Given the description of an element on the screen output the (x, y) to click on. 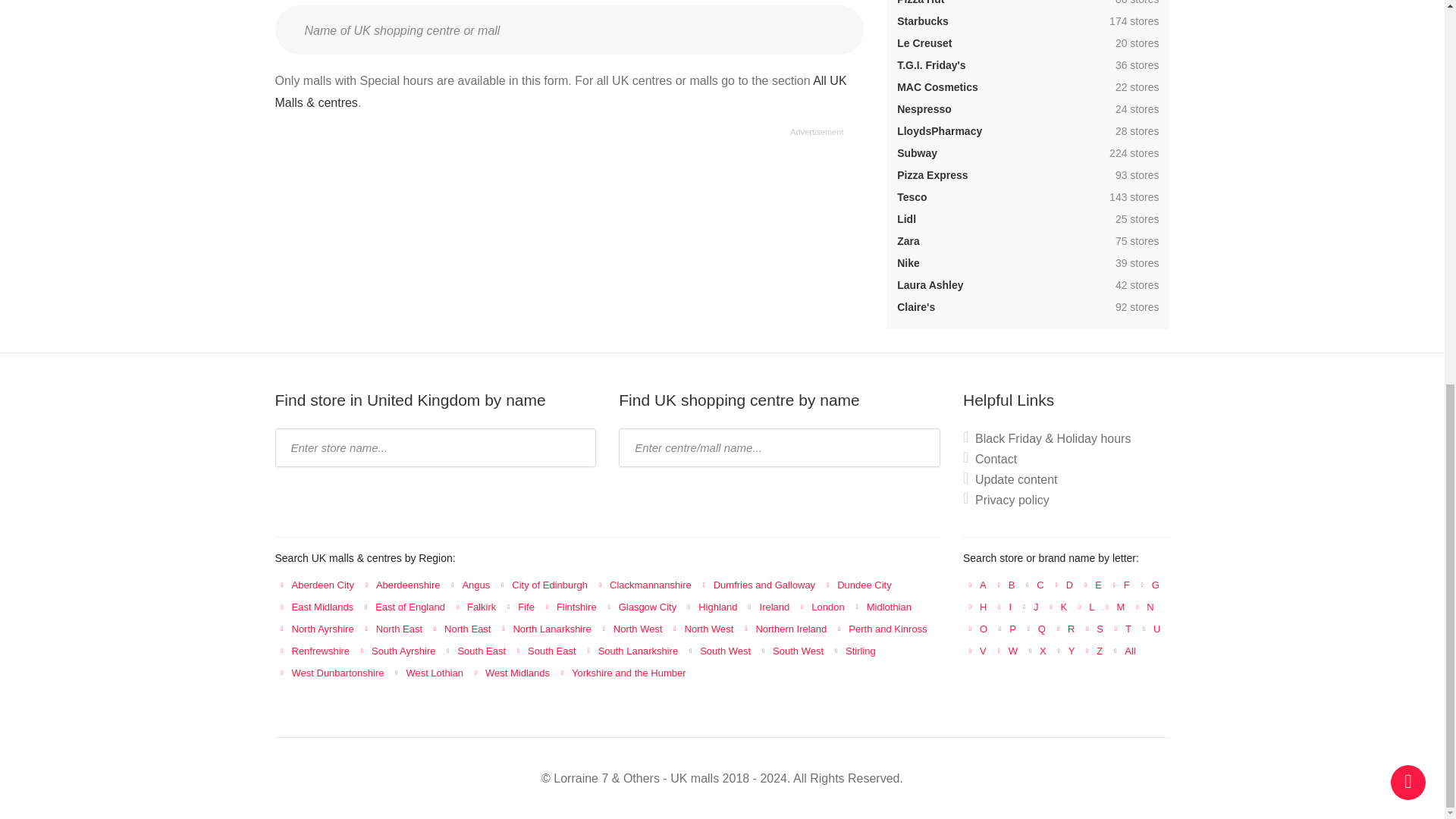
Pizza Hut (919, 2)
MAC Cosmetics (937, 87)
Subway (916, 152)
LloydsPharmacy (938, 131)
Lidl (905, 218)
Tesco (911, 196)
Nespresso (924, 109)
Pizza Express (932, 174)
Le Creuset (924, 42)
Starbucks (922, 21)
